Given the description of an element on the screen output the (x, y) to click on. 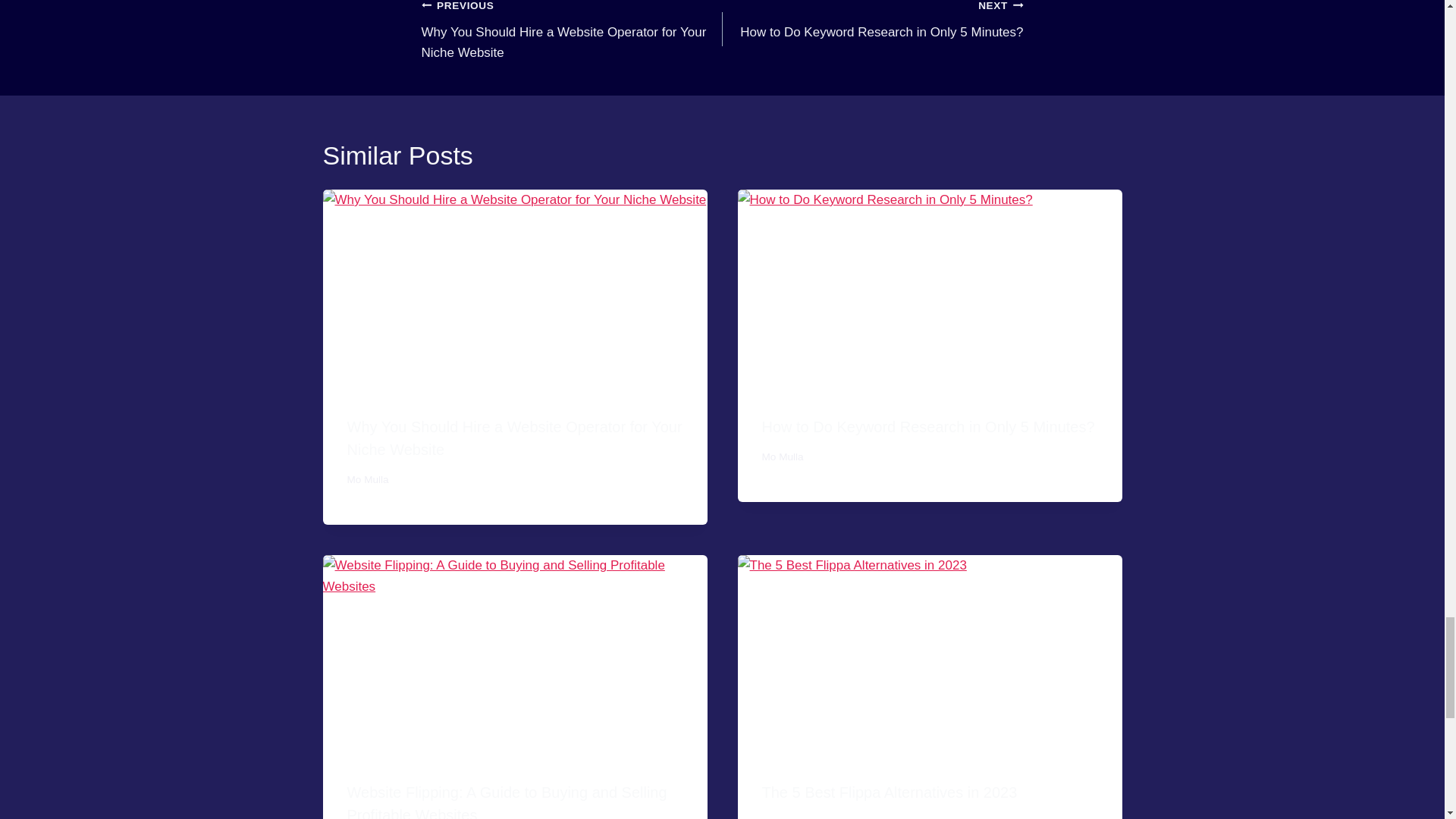
Mo Mulla (782, 456)
Mo Mulla (782, 817)
How to Do Keyword Research in Only 5 Minutes? (927, 426)
Mo Mulla (367, 479)
The 5 Best Flippa Alternatives in 2023 (888, 791)
